Given the description of an element on the screen output the (x, y) to click on. 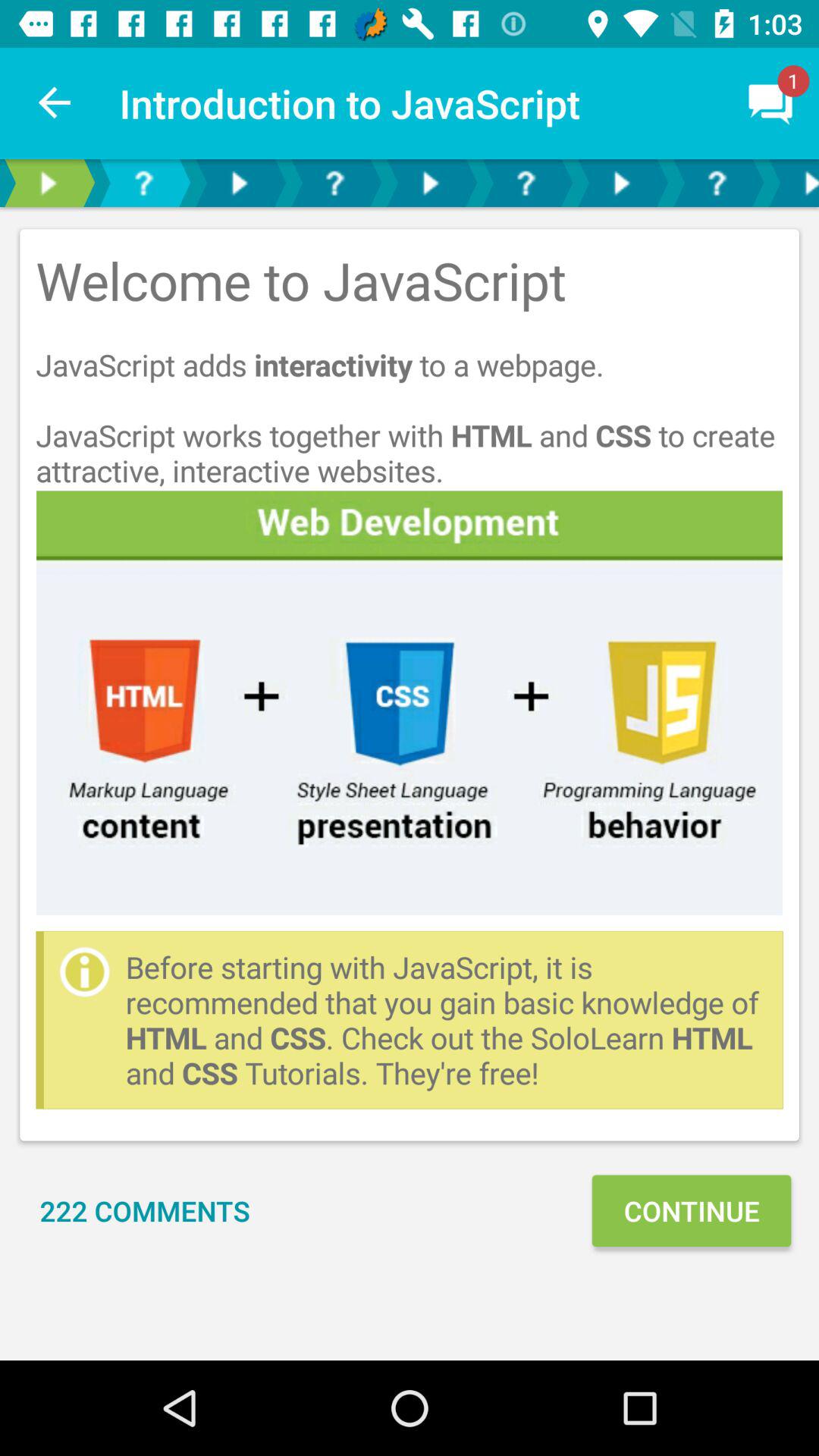
open item below before starting with icon (144, 1210)
